Given the description of an element on the screen output the (x, y) to click on. 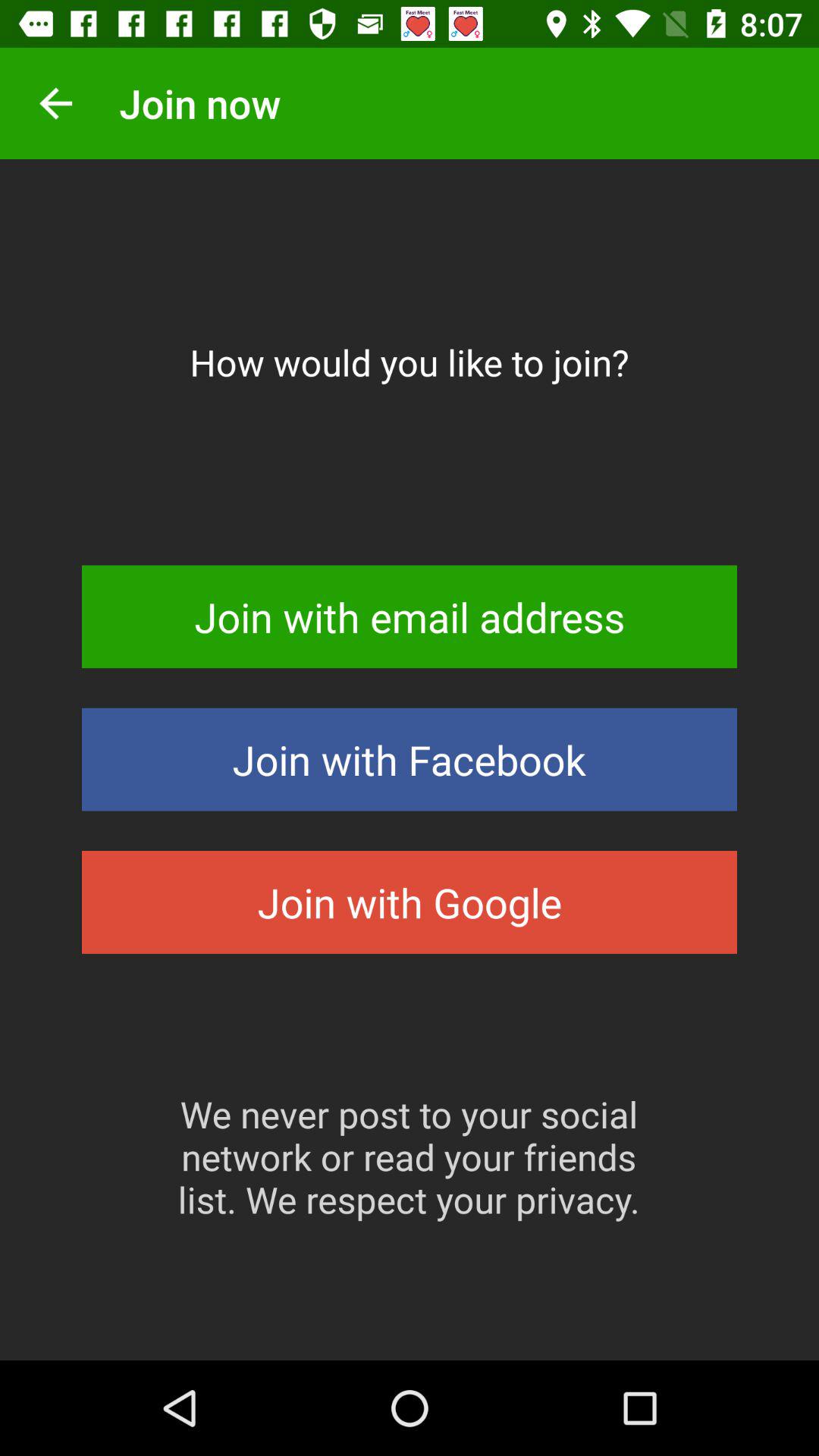
go back (55, 103)
